Given the description of an element on the screen output the (x, y) to click on. 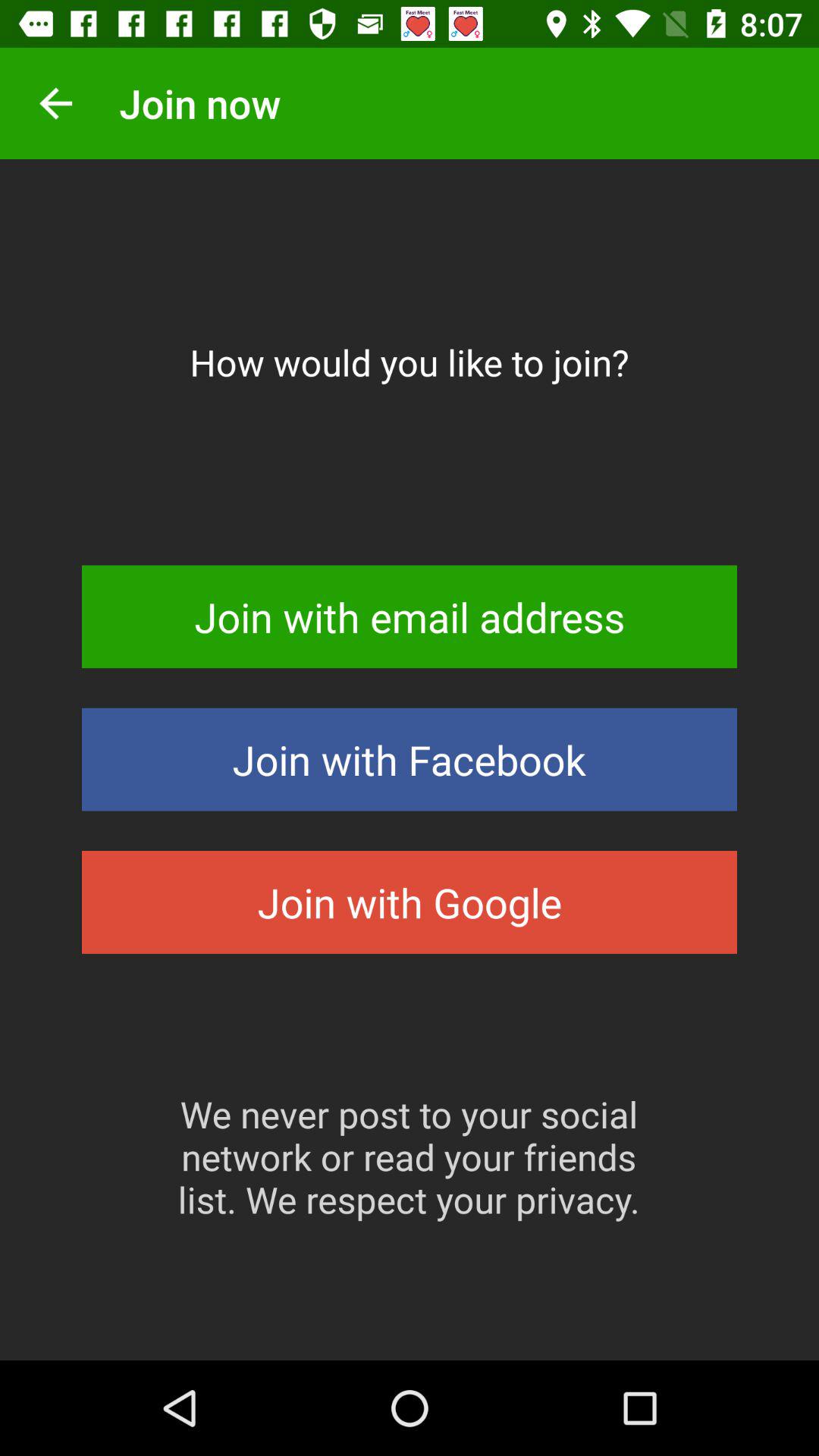
go back (55, 103)
